Given the description of an element on the screen output the (x, y) to click on. 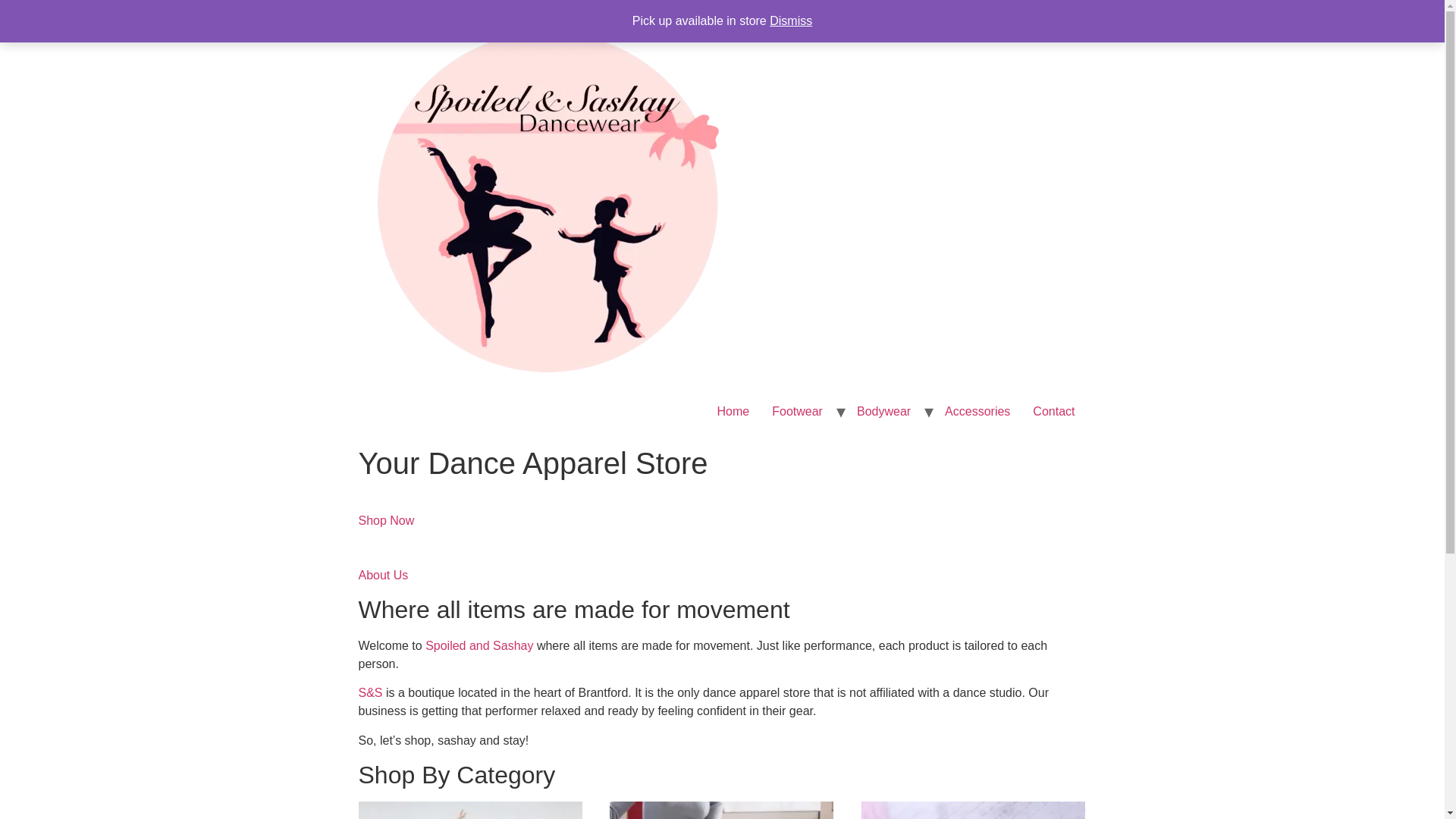
Shop Now (385, 529)
Contact (1054, 411)
Dismiss (791, 20)
Accessories (977, 411)
Accessories (469, 810)
Bodywear (883, 411)
About Us (382, 583)
Clothing (972, 810)
Home (733, 411)
Spoiled and Sashay (478, 645)
